Given the description of an element on the screen output the (x, y) to click on. 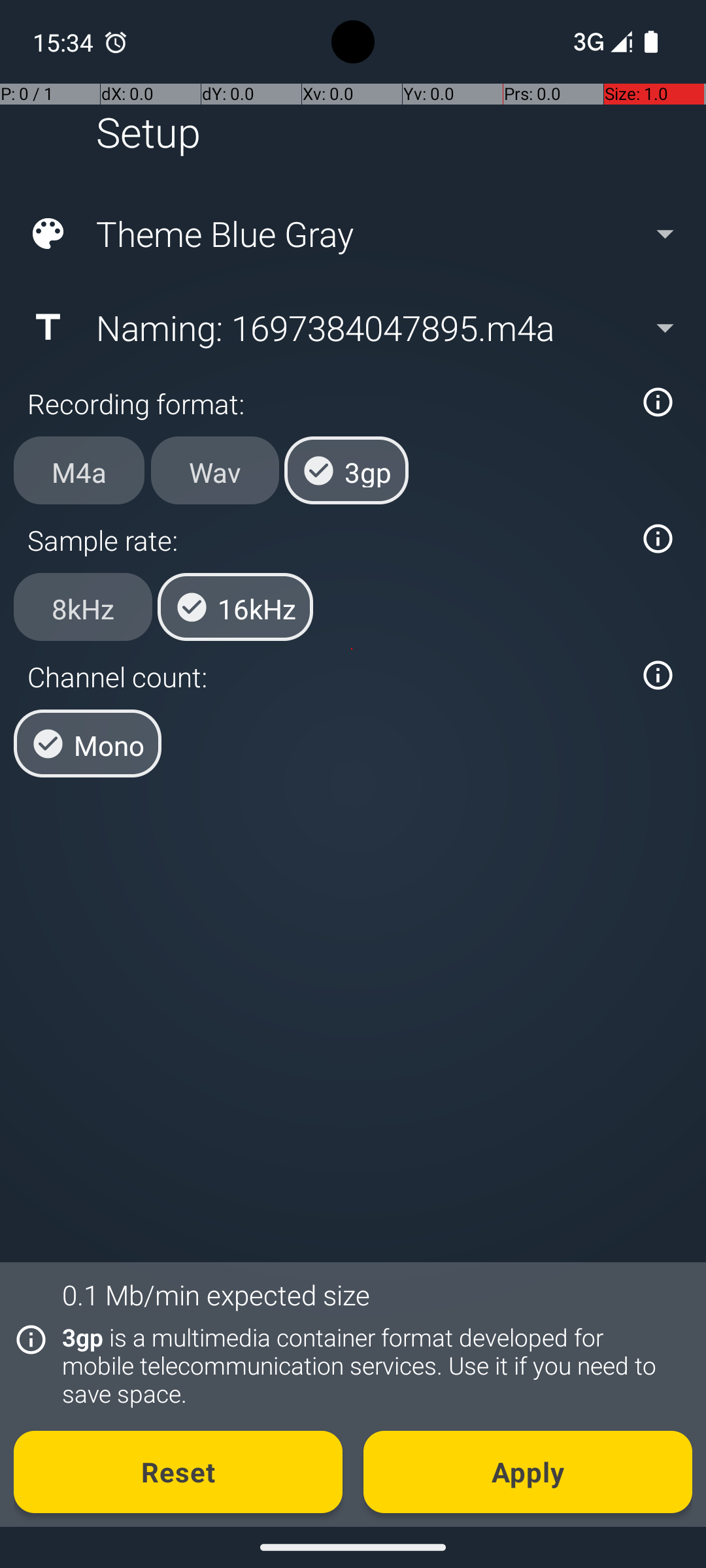
0.1 Mb/min expected size Element type: android.widget.TextView (215, 1294)
3gp is a multimedia container format developed for mobile telecommunication services. Use it if you need to save space. Element type: android.widget.TextView (370, 1364)
Naming: 1697384047895.m4a Element type: android.widget.TextView (352, 327)
Clock notification: Missed alarm Element type: android.widget.ImageView (115, 41)
